Given the description of an element on the screen output the (x, y) to click on. 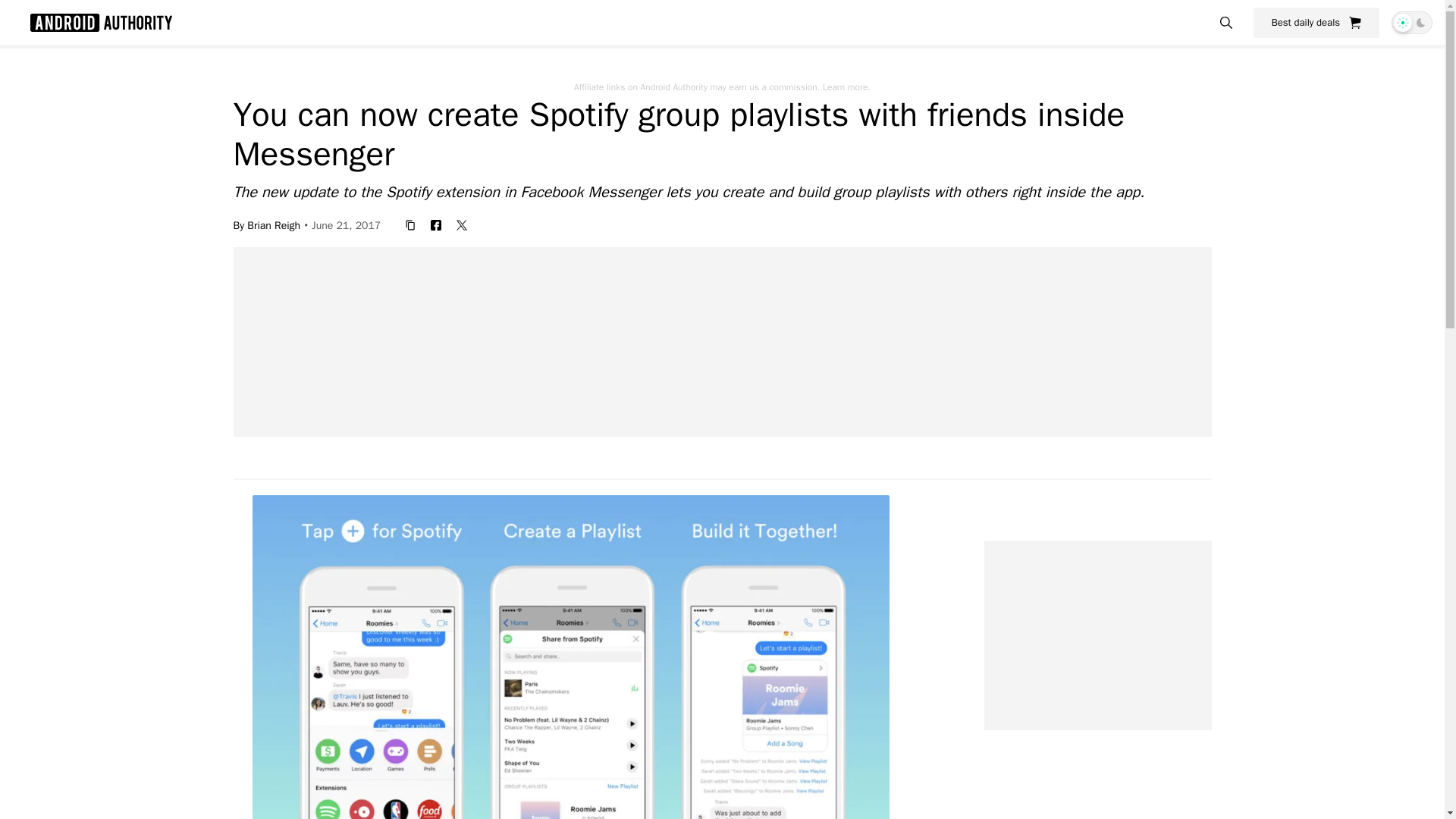
Brian Reigh (273, 224)
twitter (461, 225)
facebook (435, 225)
Learn more. (846, 86)
Best daily deals (1315, 22)
